Given the description of an element on the screen output the (x, y) to click on. 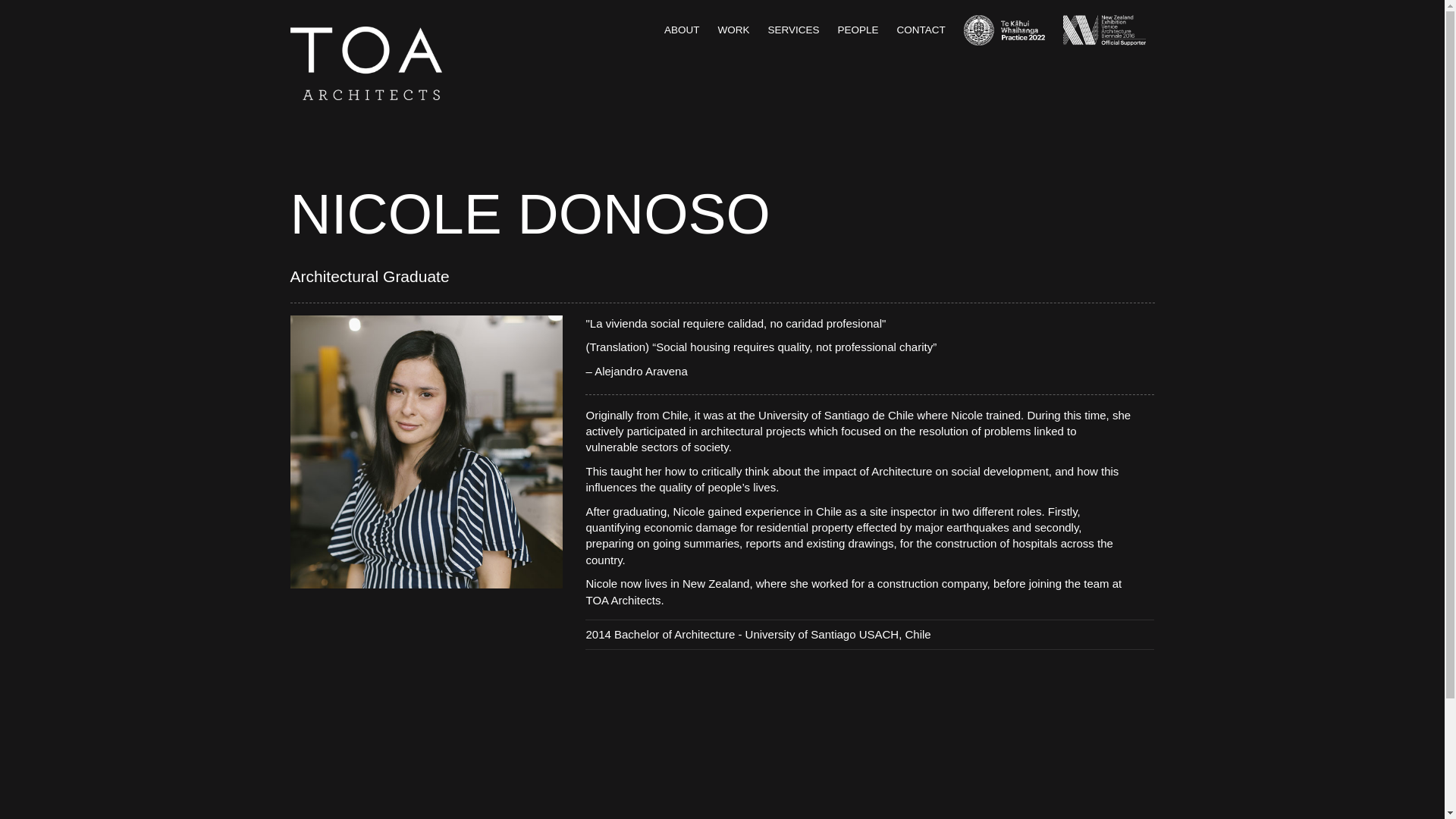
ABOUT (681, 29)
CONTACT (921, 29)
WORK (733, 29)
SERVICES (793, 29)
PEOPLE (857, 29)
